Given the description of an element on the screen output the (x, y) to click on. 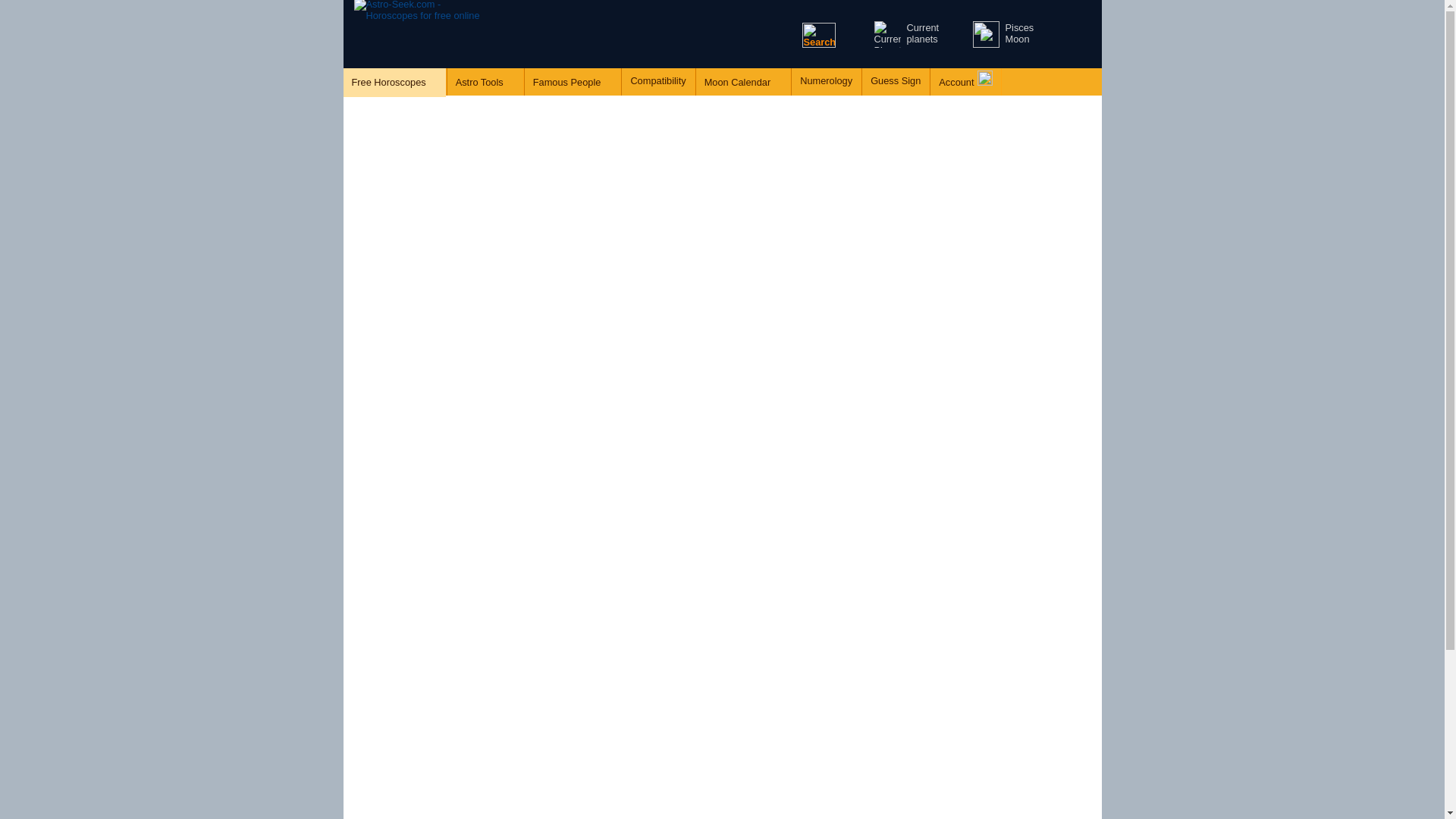
Astro Tools (484, 81)
Famous People (572, 81)
Search (818, 34)
Moon Calendar (742, 81)
Homepage - Astro-Seek.com (418, 33)
Compatibility (657, 81)
Moon Lunar calendar 2024 (985, 34)
Free Horoscopes (393, 82)
Current Planets, Astrology Transits, Chart of this moment (886, 34)
